Given the description of an element on the screen output the (x, y) to click on. 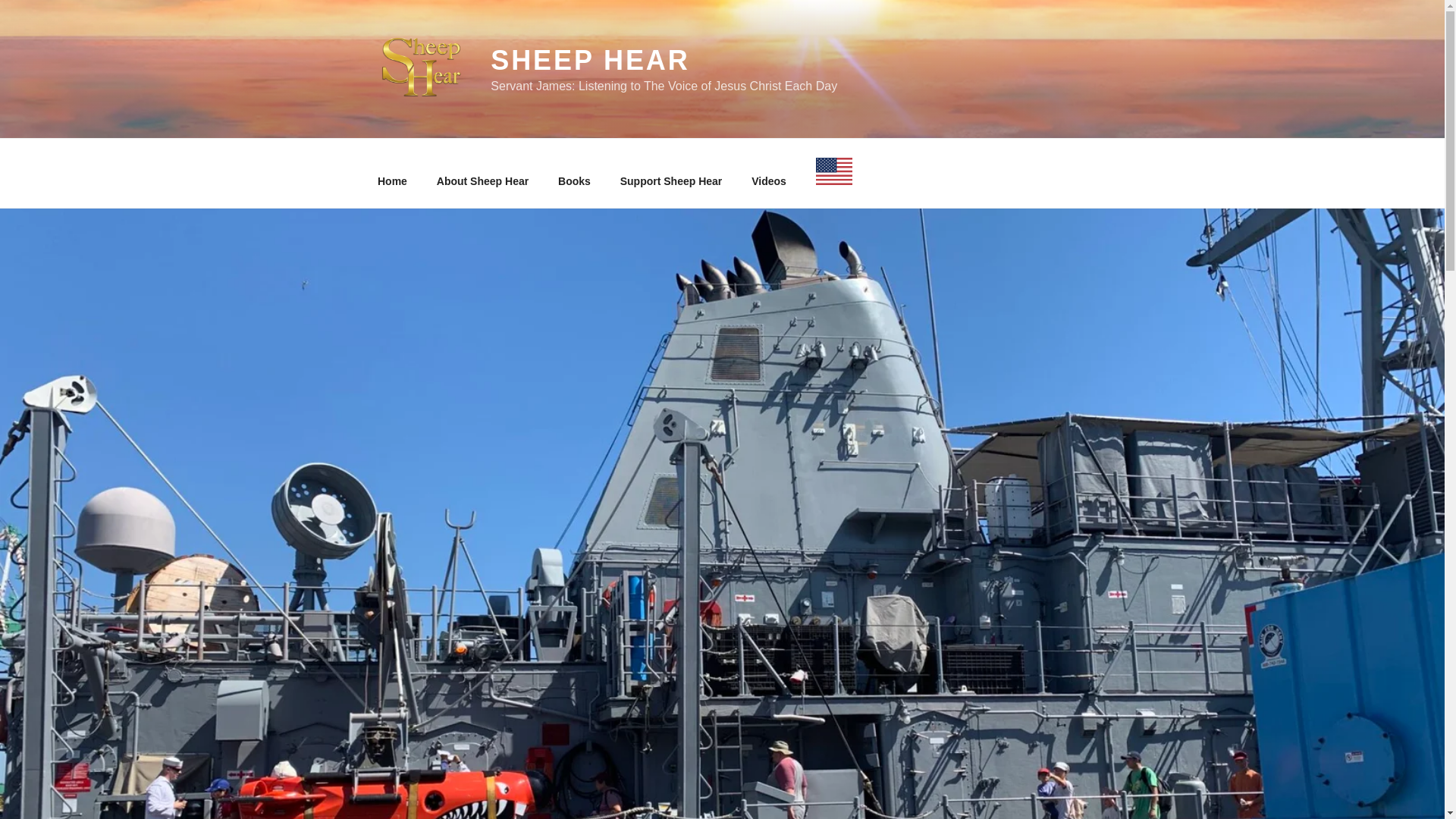
Videos (768, 180)
SHEEP HEAR (589, 60)
Home (392, 180)
Support Sheep Hear (671, 180)
About Sheep Hear (482, 180)
Books (574, 180)
English (833, 173)
